Given the description of an element on the screen output the (x, y) to click on. 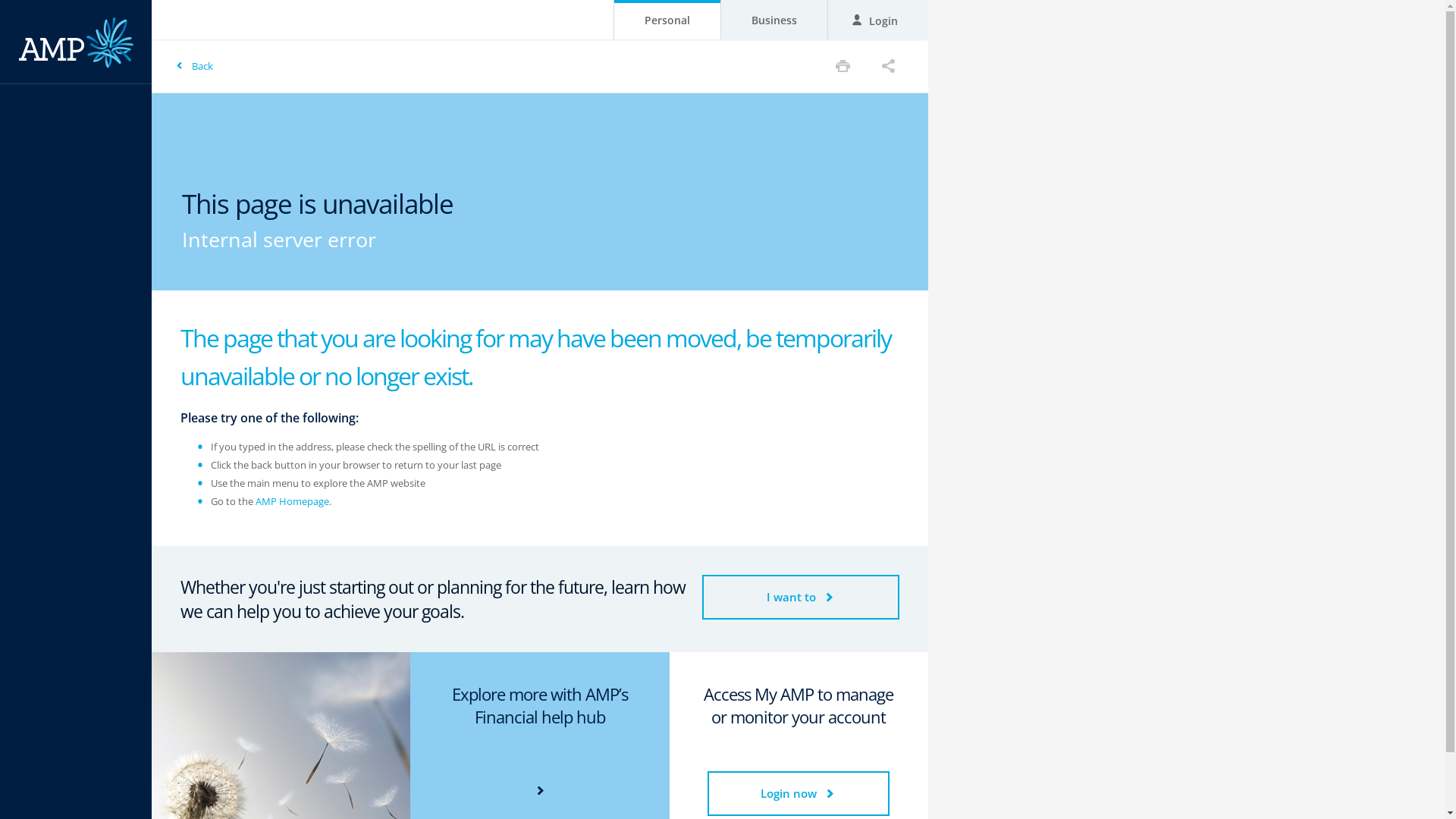
Login Element type: text (878, 20)
Personal Element type: text (667, 20)
I want to Element type: text (800, 596)
AMP Homepage Element type: text (292, 501)
Login now Element type: text (798, 793)
Share Element type: hover (888, 65)
Print Element type: hover (842, 65)
Back Element type: text (193, 65)
Business Element type: text (774, 20)
